Given the description of an element on the screen output the (x, y) to click on. 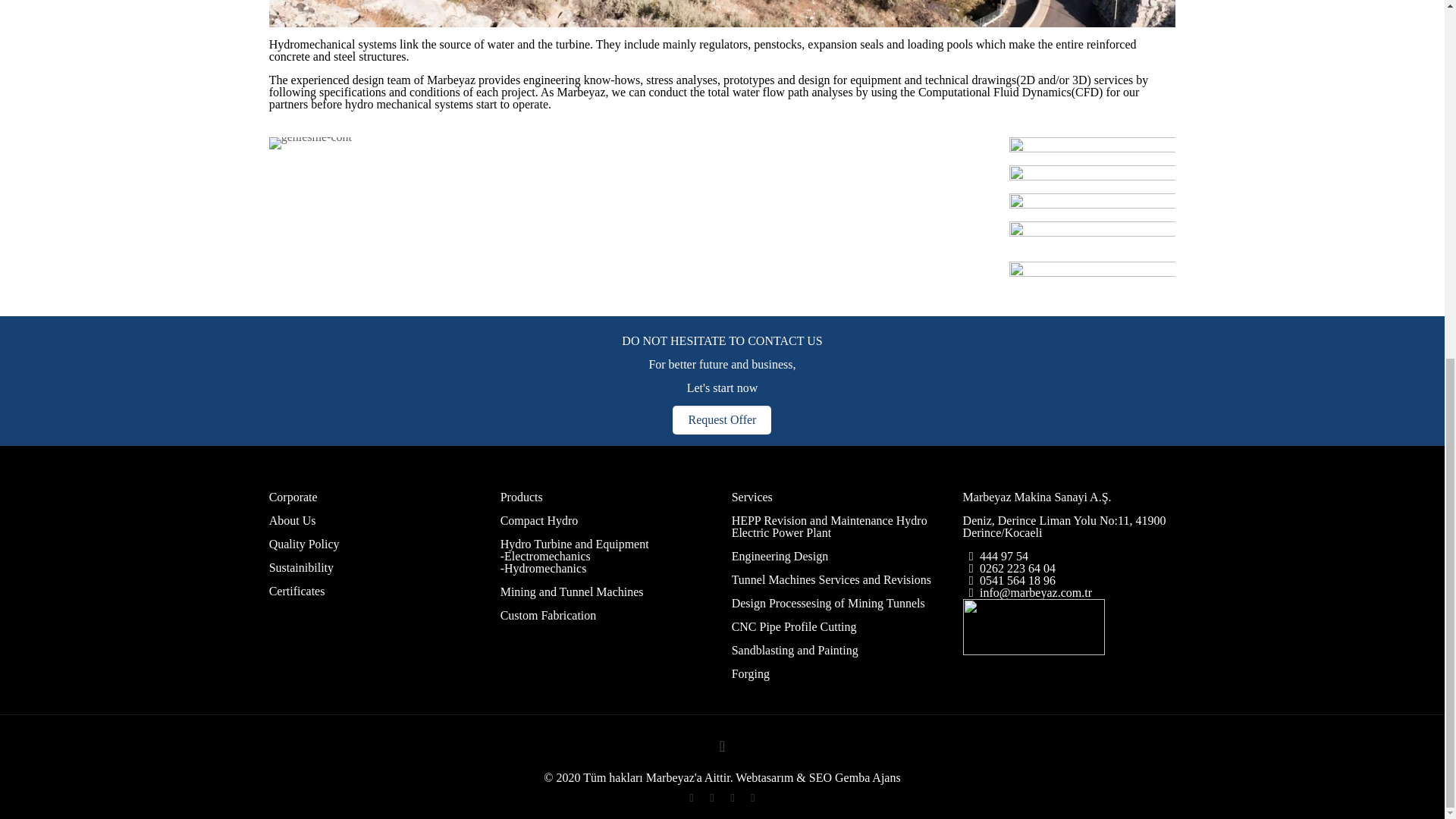
genlesme-cont (310, 143)
Twitter (711, 797)
Instagram (752, 797)
Facebook (690, 797)
LinkedIn (731, 797)
